Given the description of an element on the screen output the (x, y) to click on. 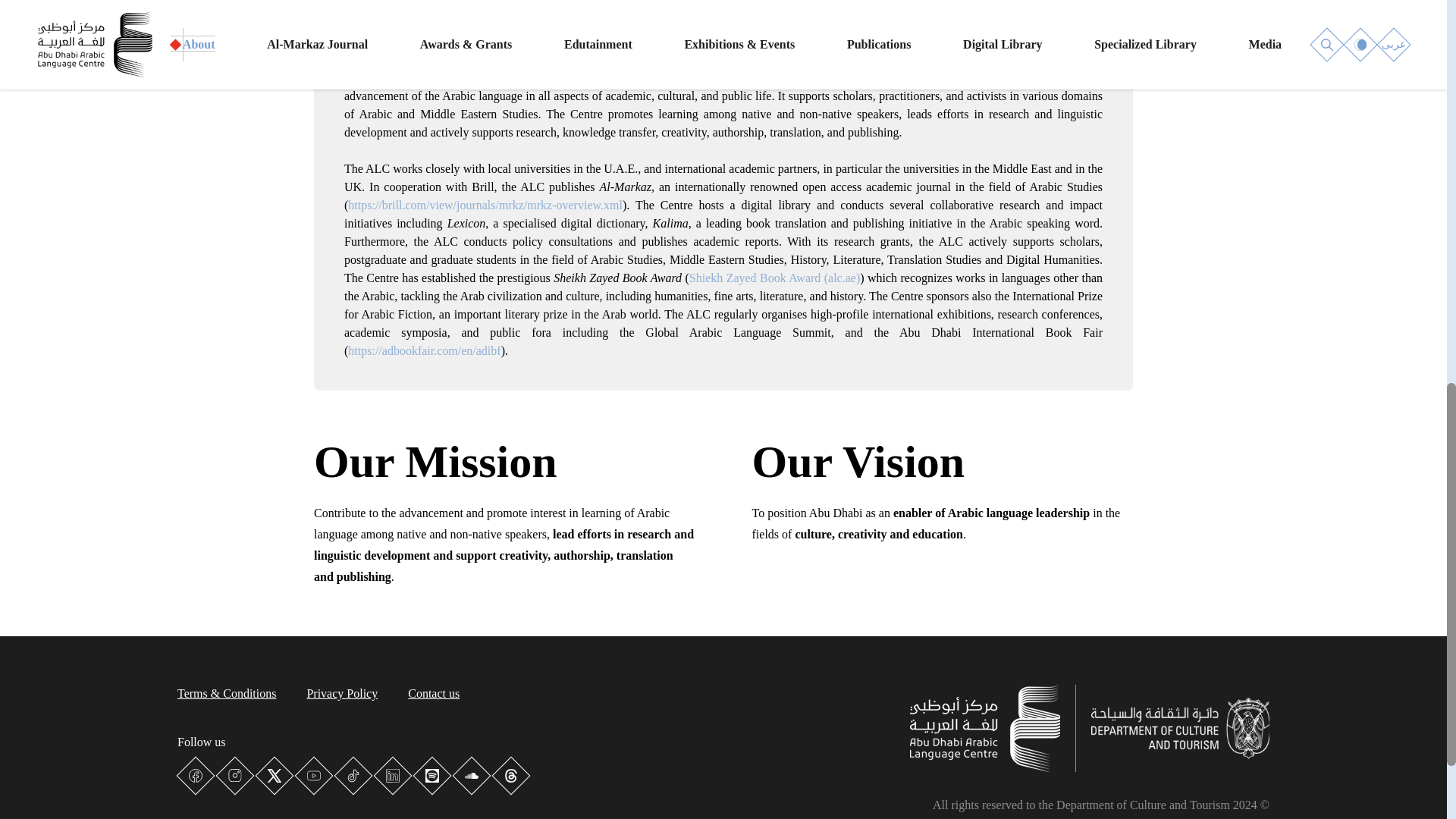
50 (1235, 356)
